Given the description of an element on the screen output the (x, y) to click on. 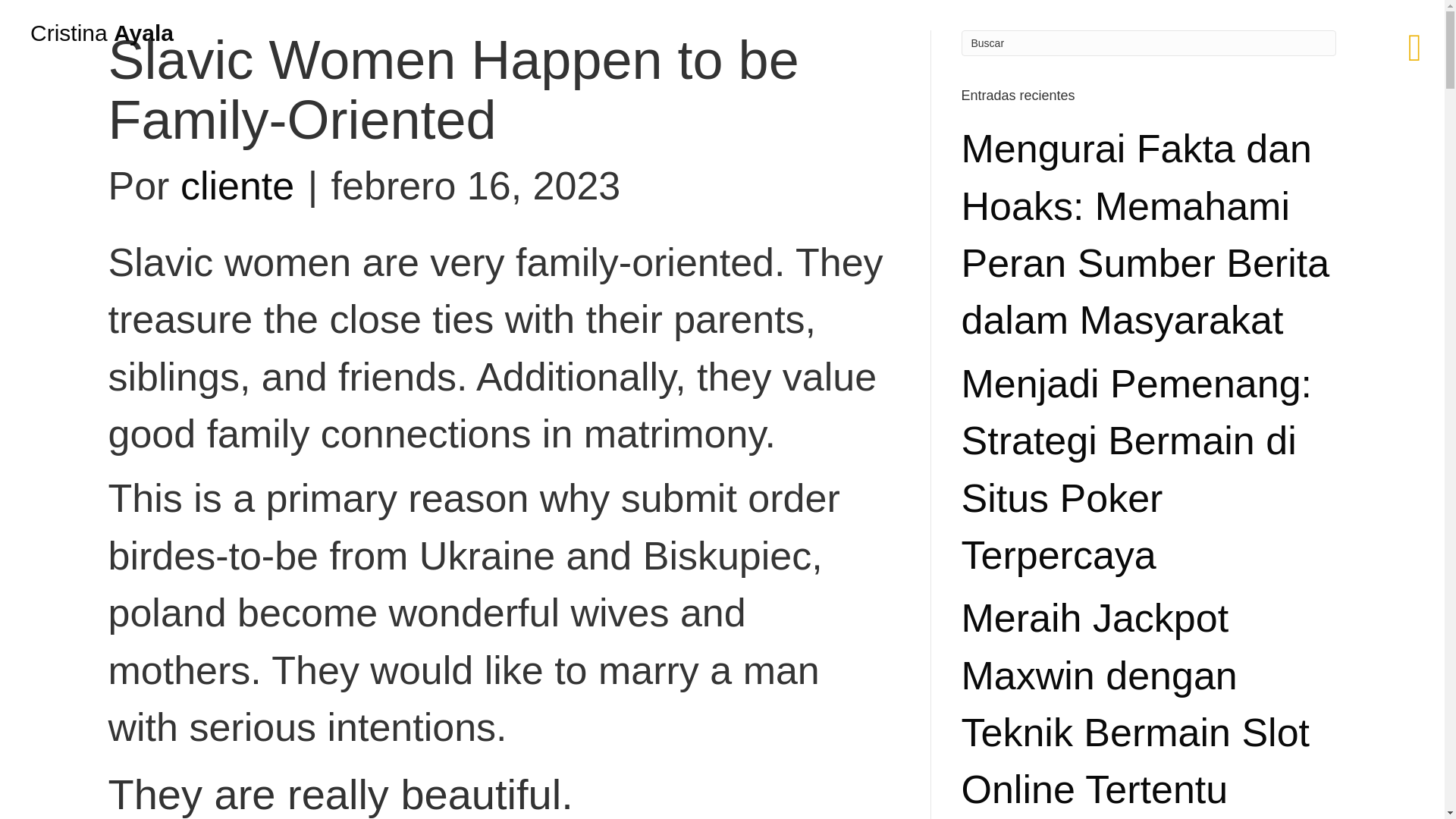
Buscar (1148, 43)
archivo (92, 242)
Menjadi Pemenang: Strategi Bermain di Situs Poker Terpercaya (1136, 469)
Escribe y pulsa Enter para buscar. (1148, 43)
Cristina Ayala (101, 32)
cliente (237, 185)
Buscar (1148, 43)
